Given the description of an element on the screen output the (x, y) to click on. 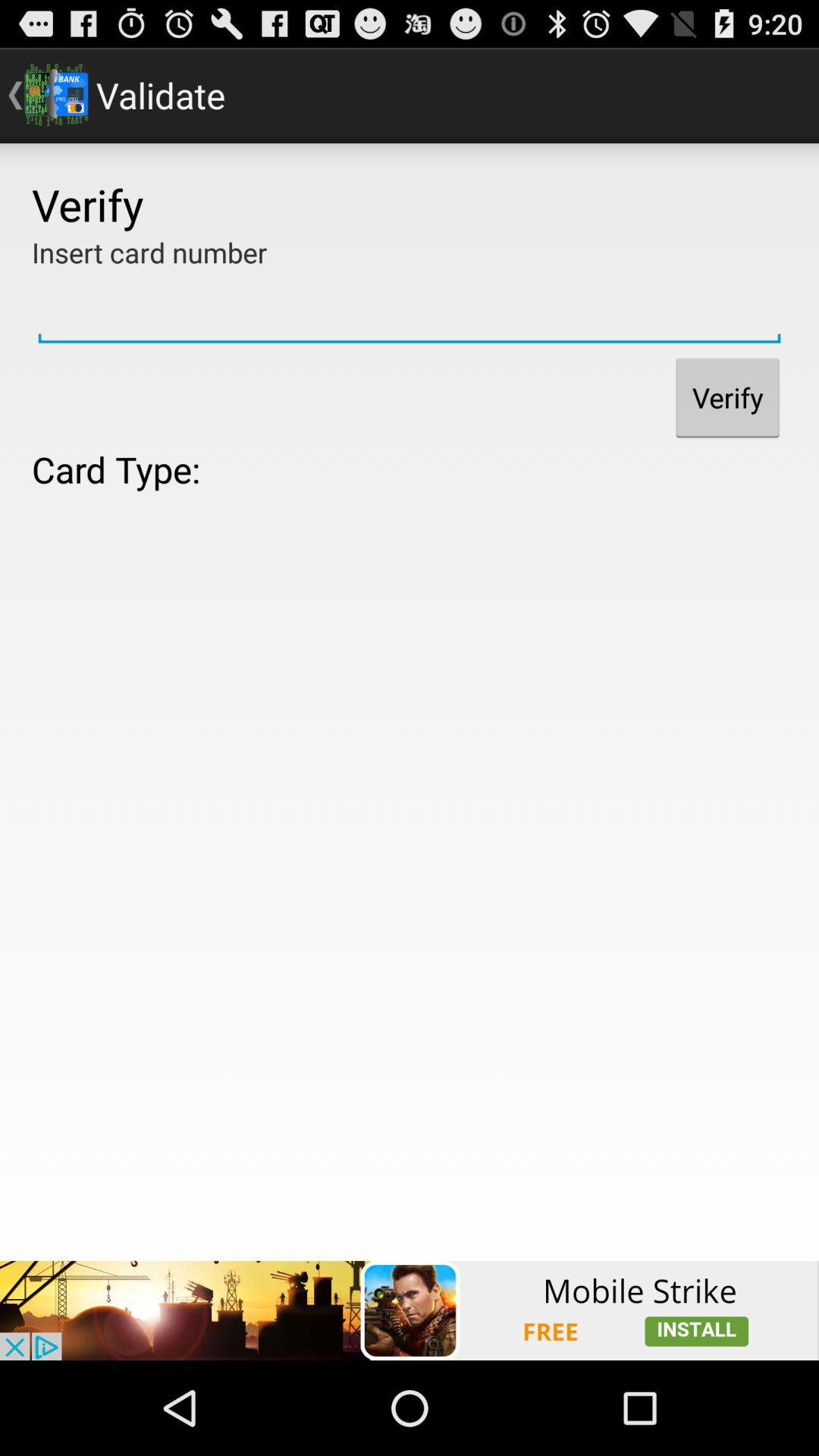
go to play store (409, 1310)
